Given the description of an element on the screen output the (x, y) to click on. 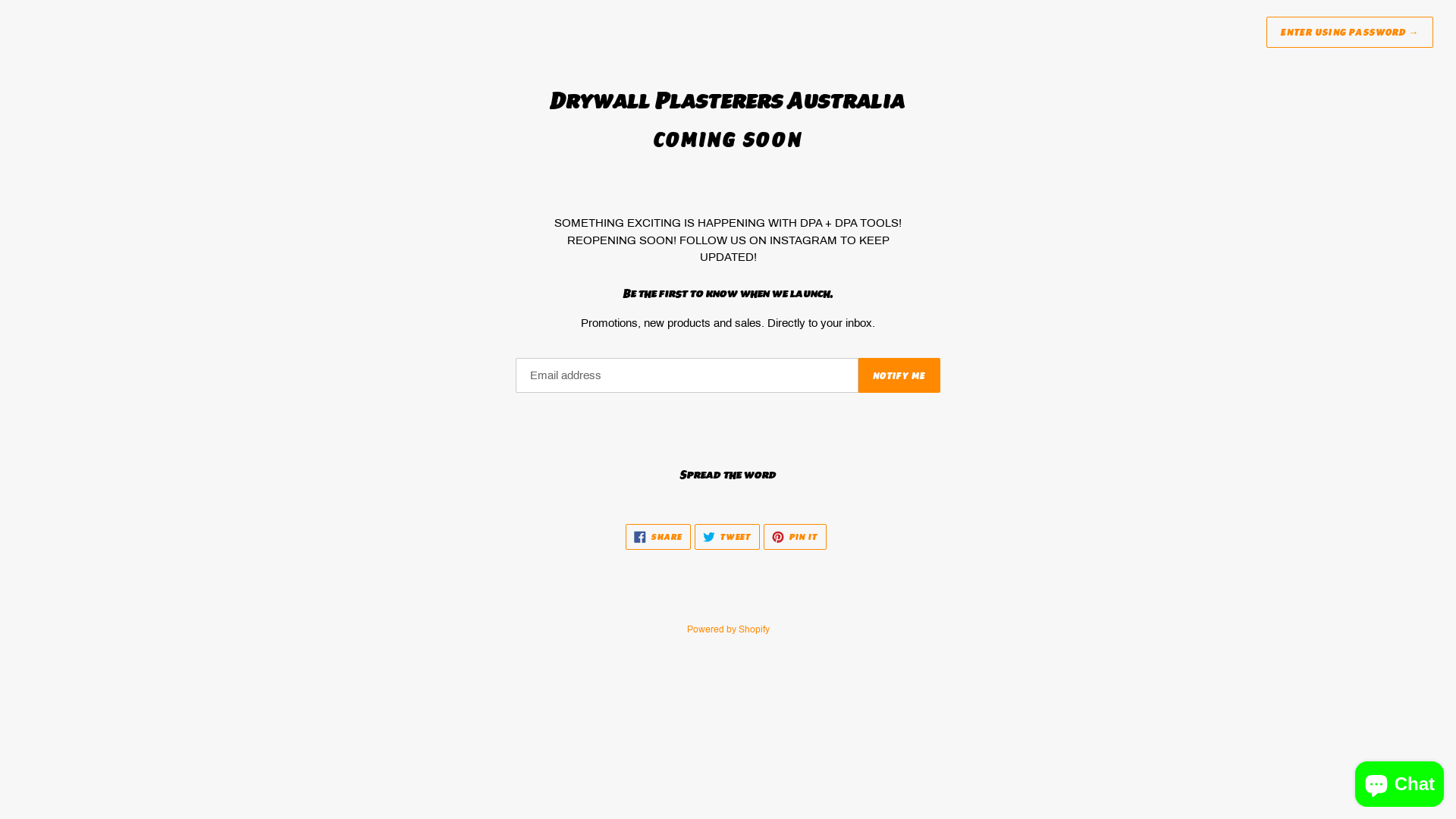
Shopify online store chat Element type: hover (1399, 780)
NOTIFY ME Element type: text (899, 374)
TWEET
TWEET ON TWITTER Element type: text (727, 536)
PIN IT
PIN ON PINTEREST Element type: text (794, 536)
SHARE
SHARE ON FACEBOOK Element type: text (657, 536)
Powered by Shopify Element type: text (728, 629)
